Given the description of an element on the screen output the (x, y) to click on. 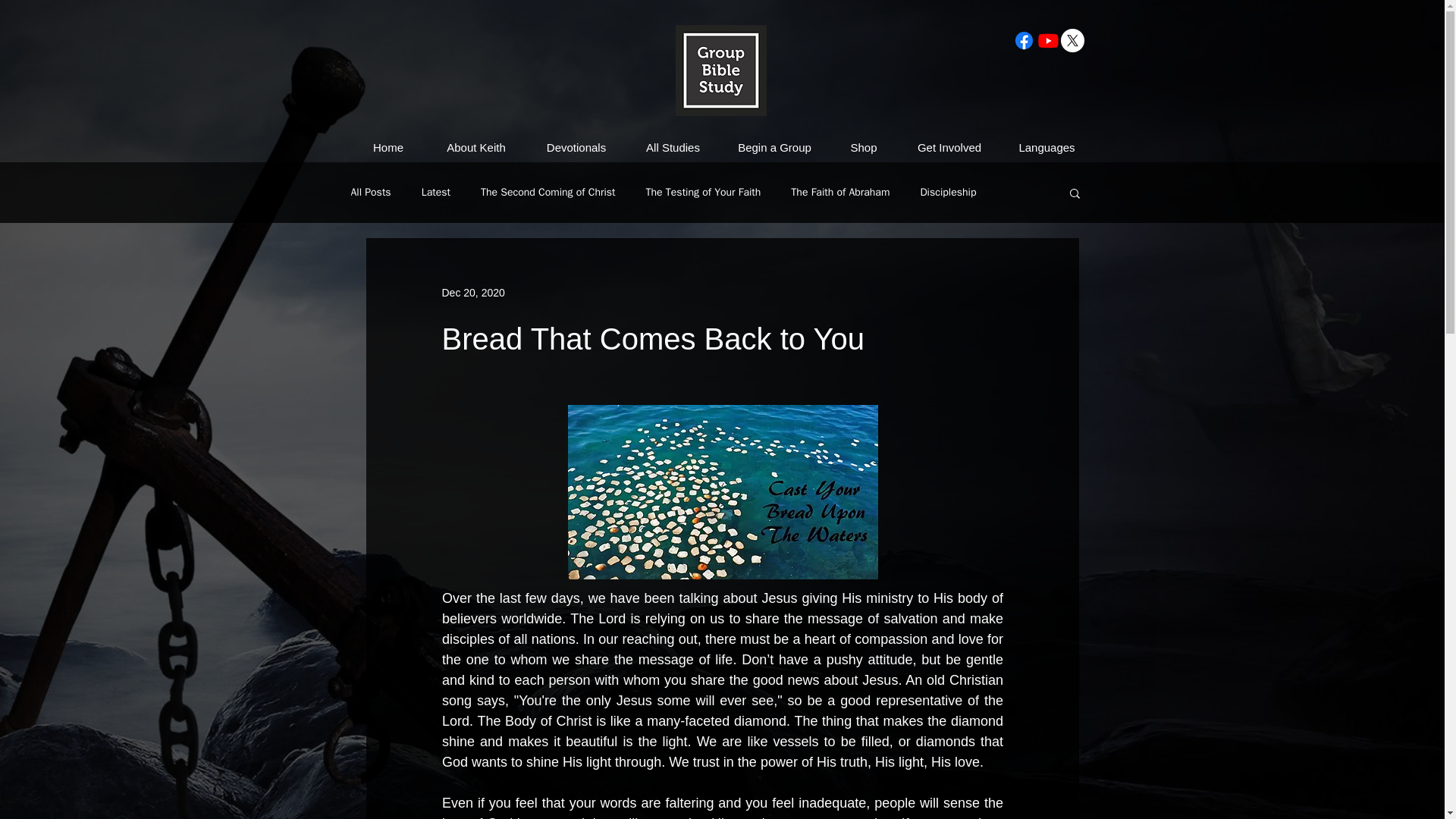
Dec 20, 2020 (472, 292)
Shop (863, 147)
About Keith (476, 147)
All Studies (673, 147)
Discipleship (947, 192)
All Posts (370, 192)
Begin a Group (774, 147)
The Second Coming of Christ (547, 192)
Devotionals (575, 147)
Home (387, 147)
